Given the description of an element on the screen output the (x, y) to click on. 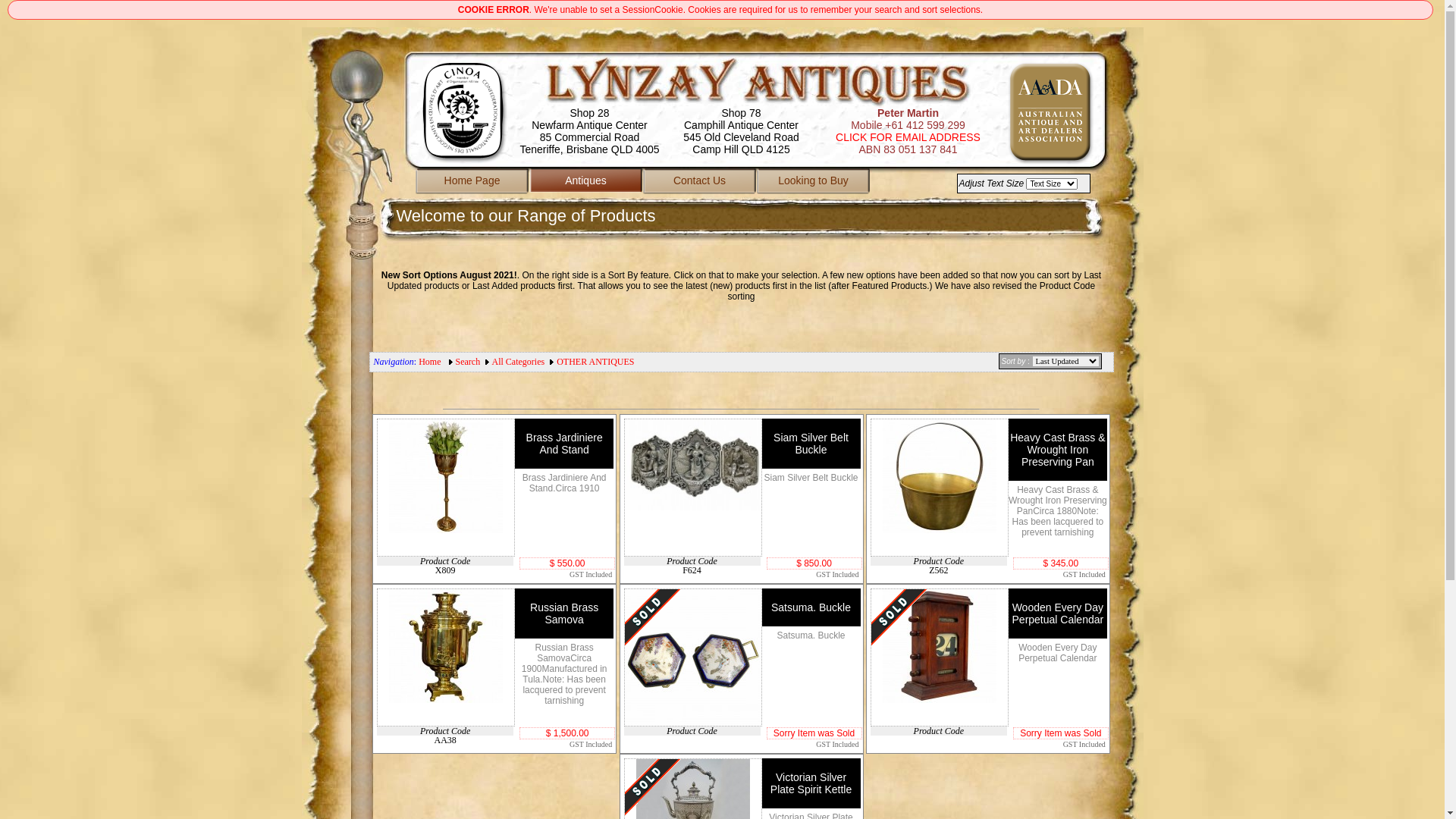
Home Page Element type: text (472, 182)
Antiques Element type: text (586, 182)
Looking to Buy Element type: text (813, 182)
Russian Brass Samova. Click for more information... Element type: hover (445, 645)
OTHER ANTIQUES Element type: text (594, 361)
Home Element type: text (429, 361)
Siam Silver Belt Buckle. Click for more information... Element type: hover (692, 464)
Satsuma. Buckle. Click for more information... Element type: hover (692, 657)
All Categories Element type: text (518, 361)
Brass Jardiniere And Stand. Click for more information... Element type: hover (445, 476)
CLICK FOR EMAIL ADDRESS Element type: text (908, 137)
Contact Us Element type: text (699, 182)
Search Element type: text (467, 361)
